Given the description of an element on the screen output the (x, y) to click on. 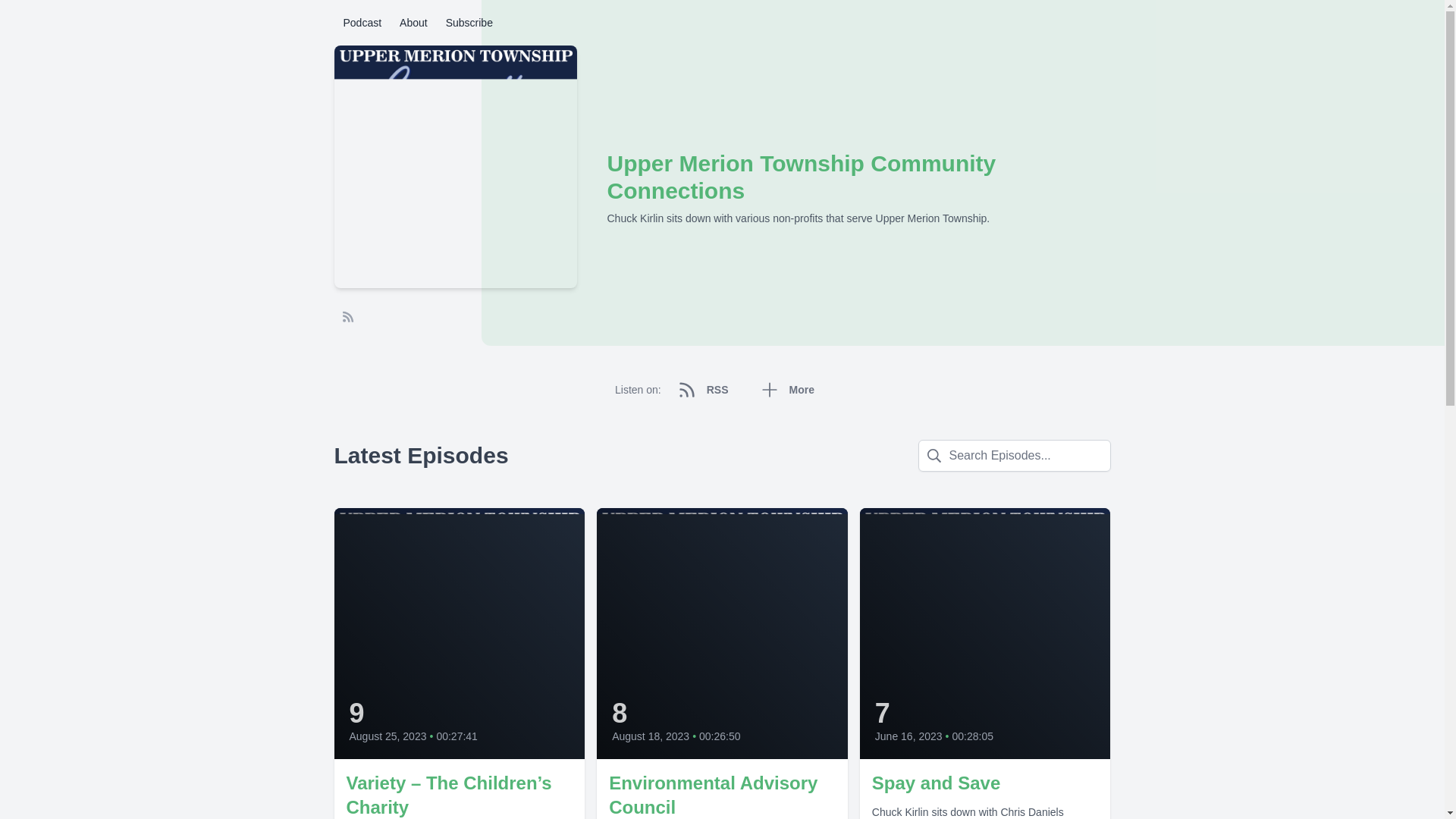
About (413, 22)
Subscribe (469, 22)
Podcast (361, 22)
RSS (705, 389)
More (789, 389)
